Given the description of an element on the screen output the (x, y) to click on. 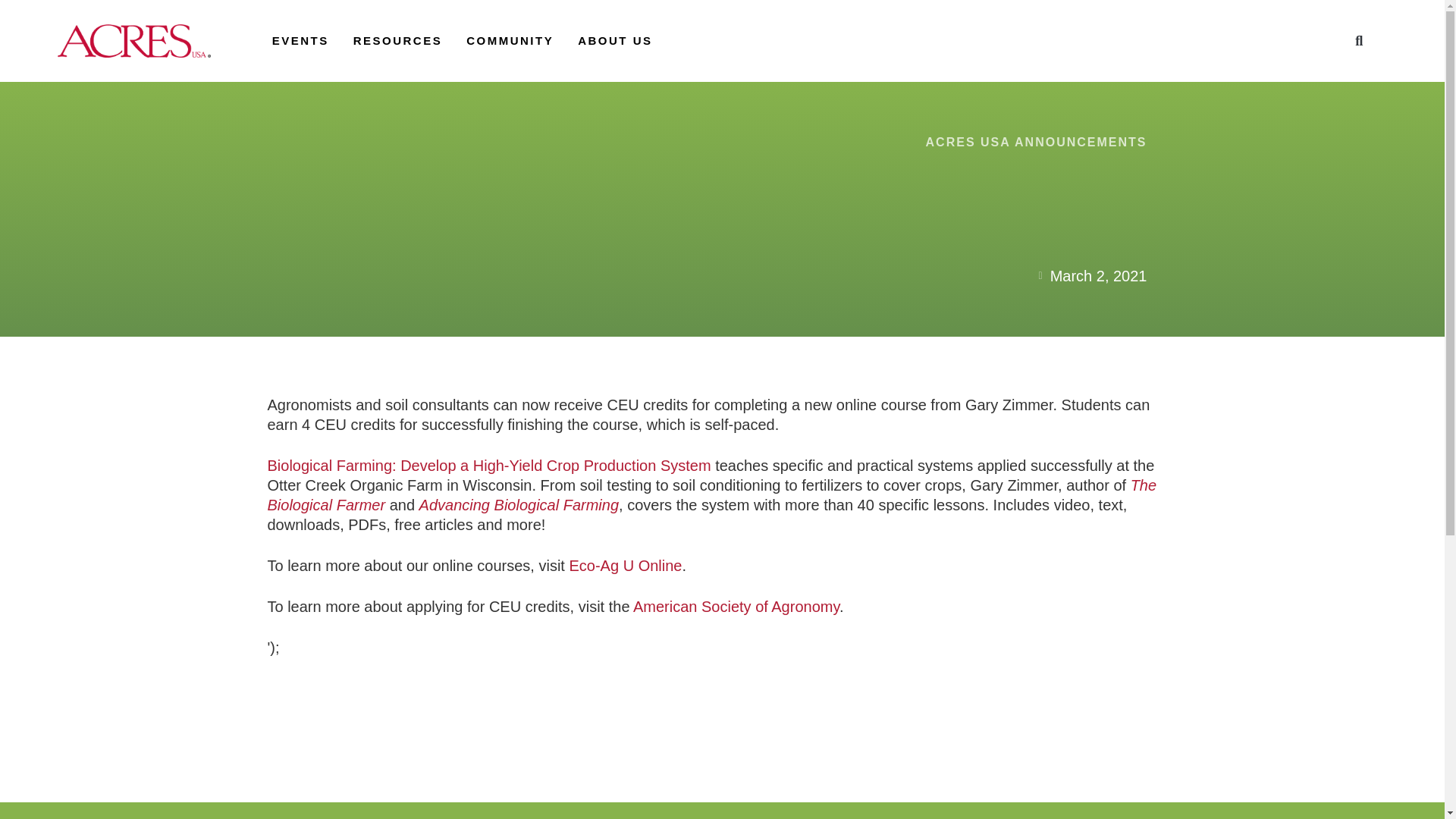
RESOURCES (397, 40)
EVENTS (300, 40)
ABOUT US (615, 40)
COMMUNITY (509, 40)
